Given the description of an element on the screen output the (x, y) to click on. 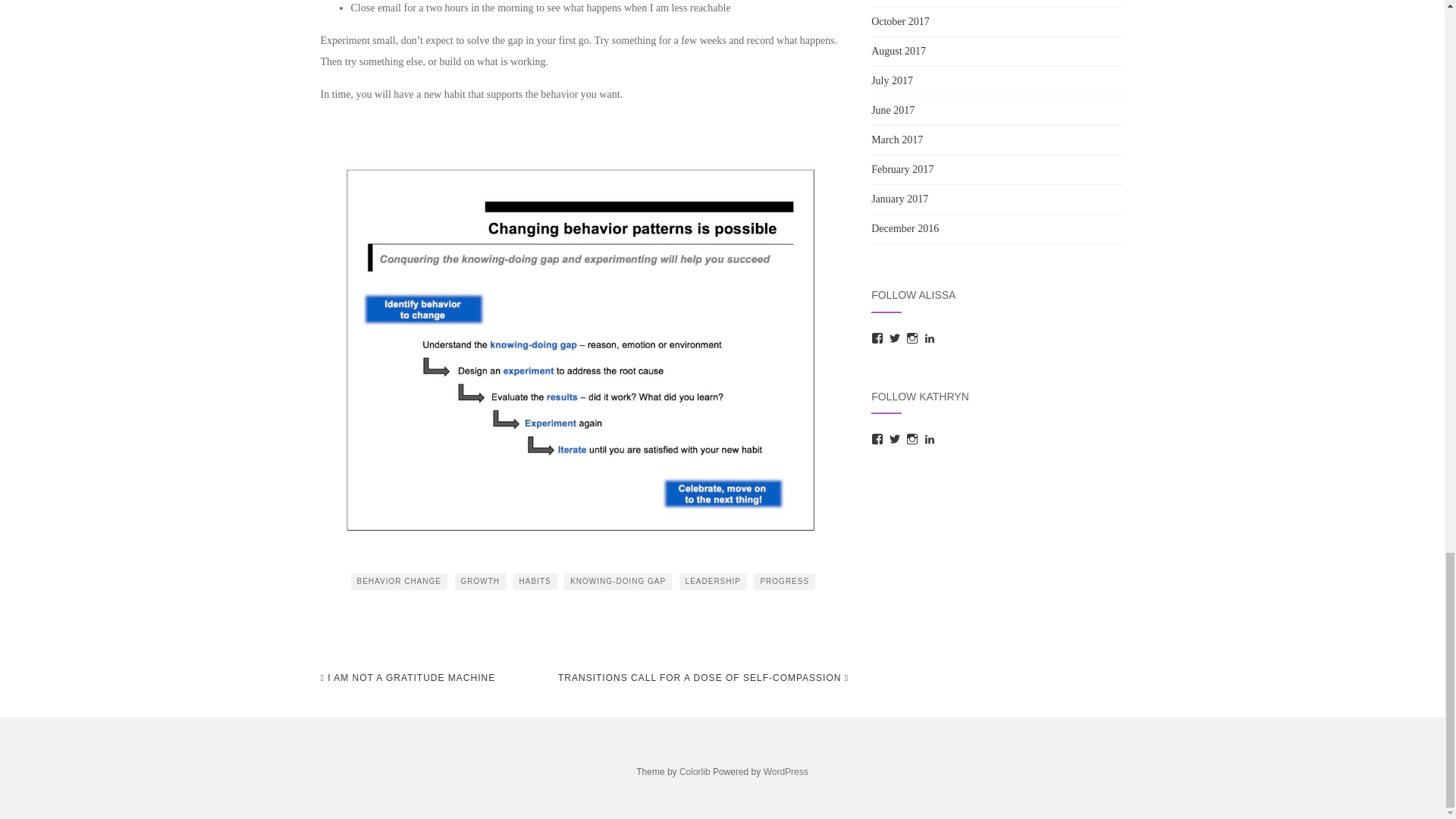
KNOWING-DOING GAP (617, 581)
TRANSITIONS CALL FOR A DOSE OF SELF-COMPASSION (702, 678)
HABITS (535, 581)
LEADERSHIP (712, 581)
I AM NOT A GRATITUDE MACHINE (407, 678)
GROWTH (480, 581)
PROGRESS (784, 581)
BEHAVIOR CHANGE (399, 581)
